Given the description of an element on the screen output the (x, y) to click on. 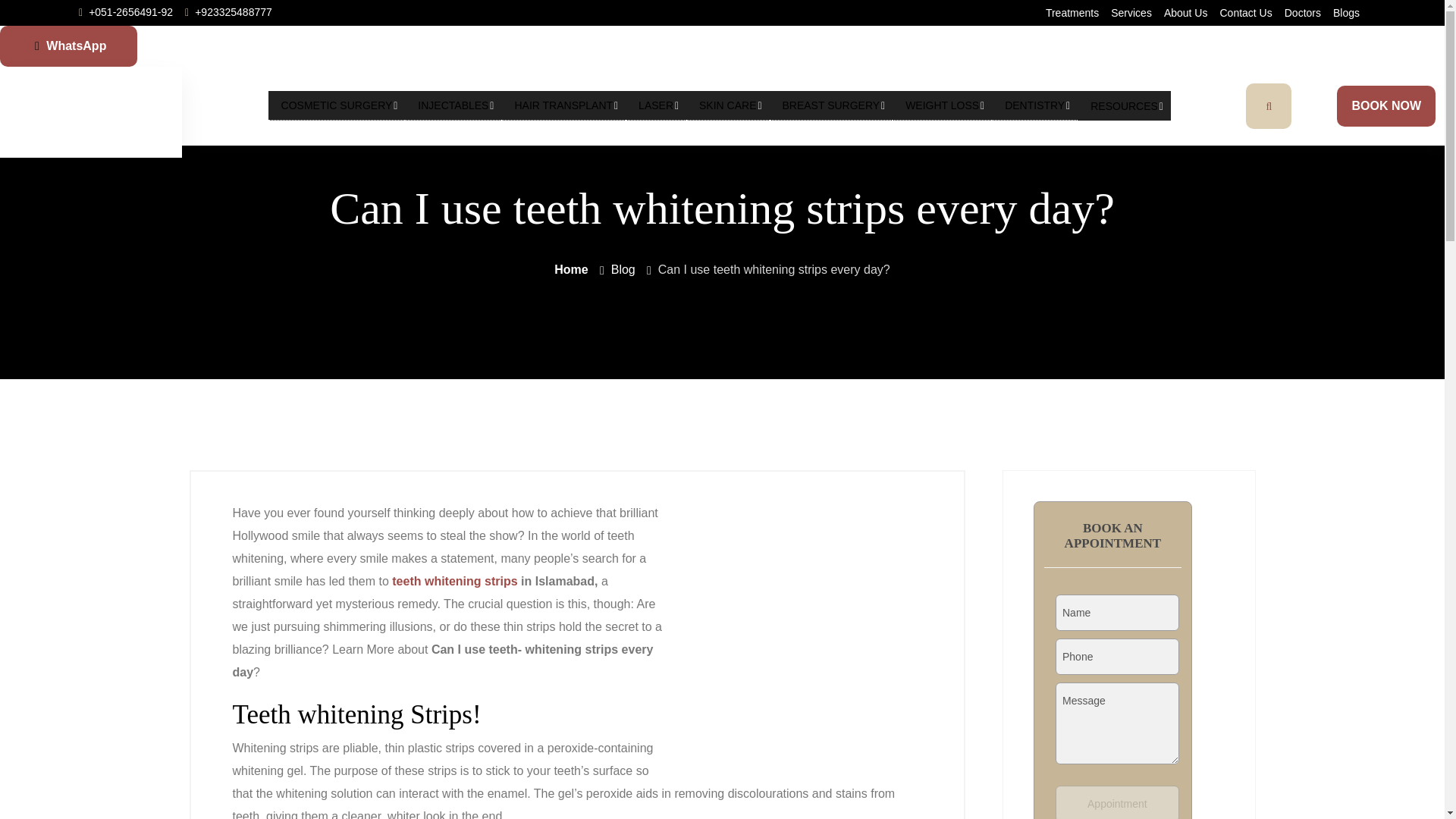
INJECTABLES (452, 104)
About Us (1185, 12)
Contact Us (1245, 12)
WhatsApp (68, 45)
Services (1130, 5)
Blogs (1346, 12)
Doctors (1302, 12)
COSMETIC SURGERY (336, 104)
Appointment (1117, 802)
